Given the description of an element on the screen output the (x, y) to click on. 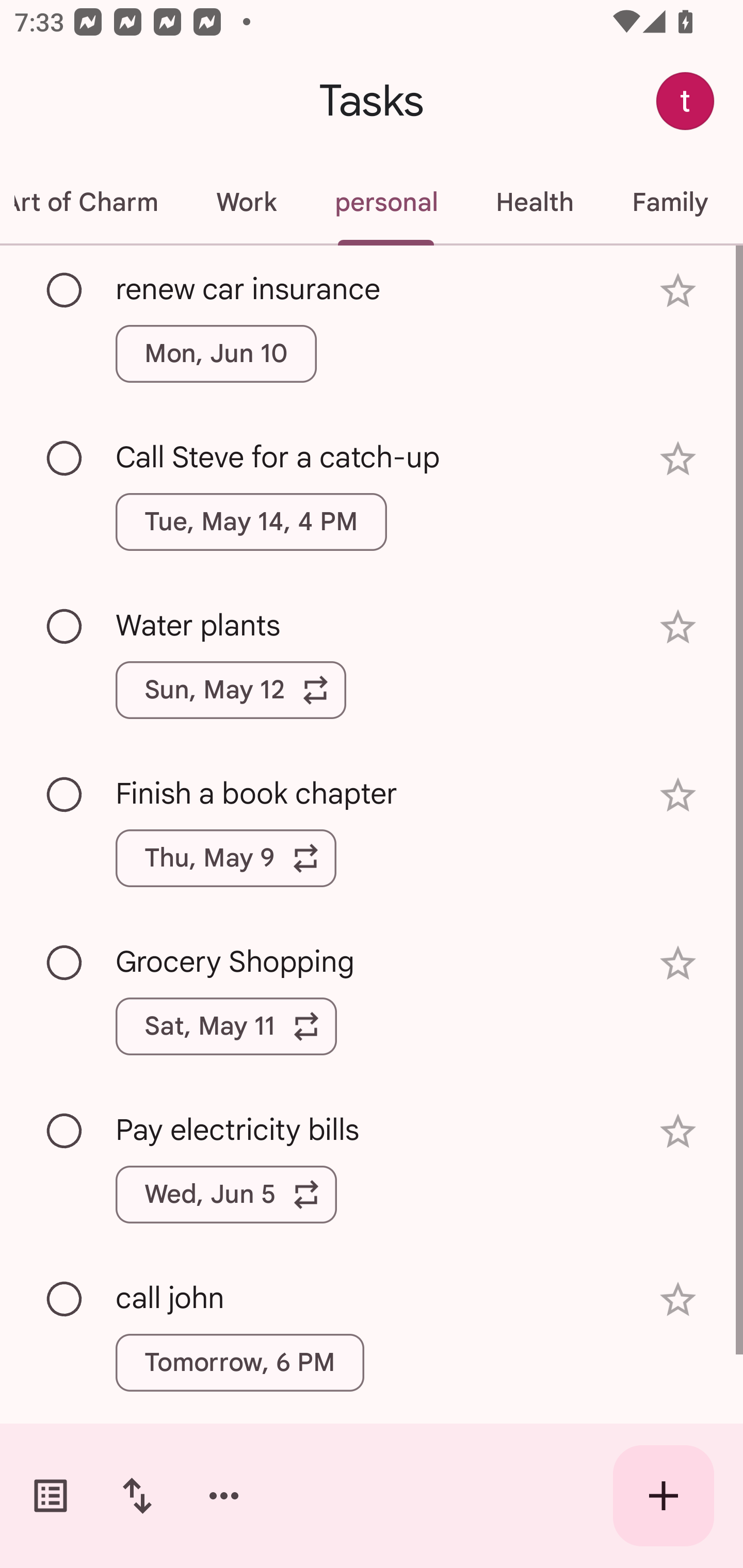
The Art of Charm (93, 202)
Work (245, 202)
Health (534, 202)
Family (669, 202)
Add star (677, 290)
Mark as complete (64, 290)
Mon, Jun 10 (215, 353)
Add star (677, 458)
Mark as complete (64, 459)
Tue, May 14, 4 PM (251, 522)
Add star (677, 627)
Mark as complete (64, 627)
Sun, May 12 (230, 689)
Add star (677, 795)
Mark as complete (64, 794)
Thu, May 9 (225, 858)
Add star (677, 963)
Mark as complete (64, 963)
Sat, May 11 (225, 1026)
Add star (677, 1131)
Mark as complete (64, 1132)
Wed, Jun 5 (225, 1193)
Add star (677, 1299)
Mark as complete (64, 1299)
Tomorrow, 6 PM (239, 1362)
Switch task lists (50, 1495)
Create new task (663, 1495)
Change sort order (136, 1495)
More options (223, 1495)
